Given the description of an element on the screen output the (x, y) to click on. 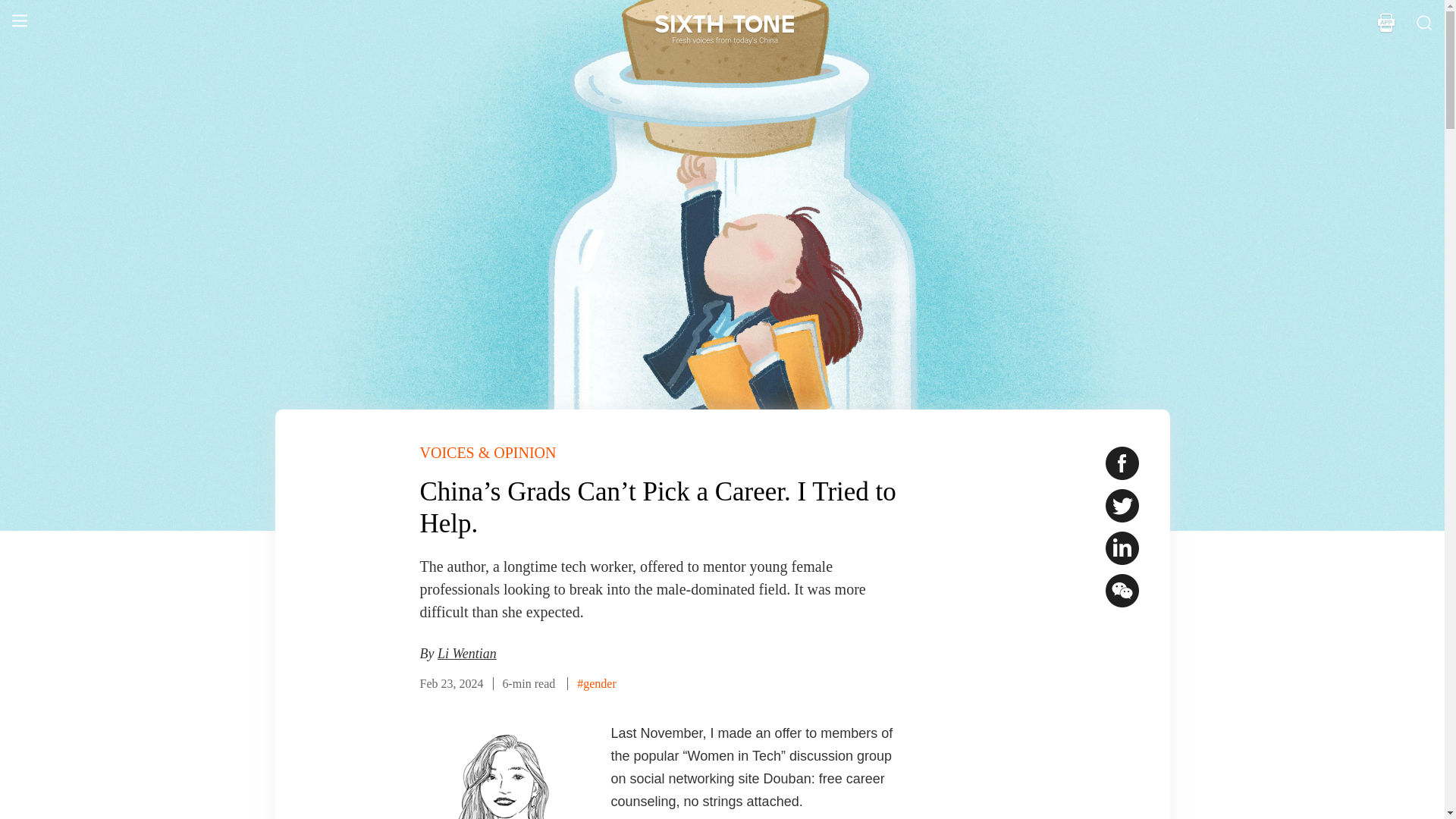
3rd party ad content (979, 770)
Li Wentian (467, 653)
